Given the description of an element on the screen output the (x, y) to click on. 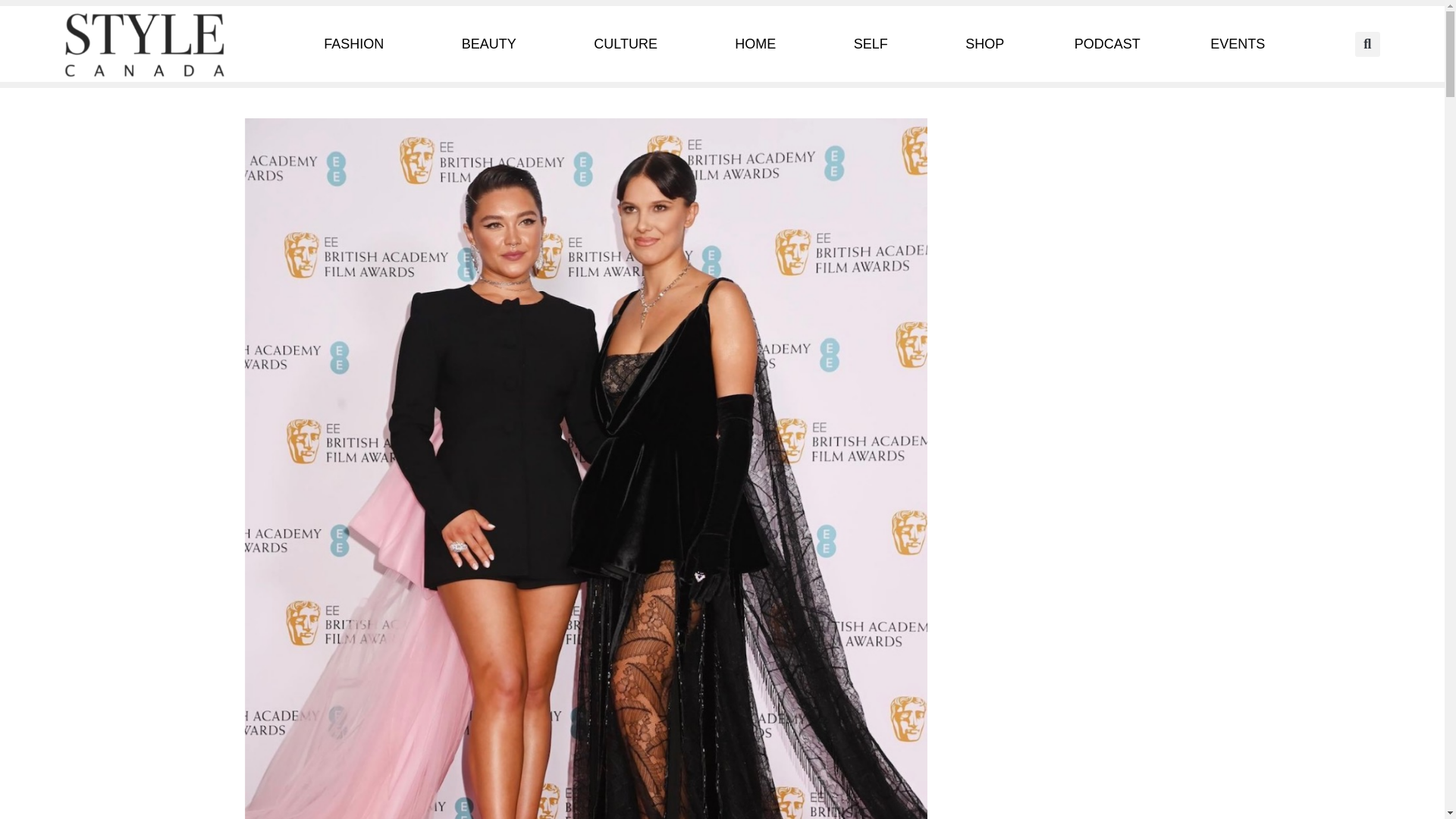
FASHION (357, 43)
CULTURE (629, 43)
HOME (759, 43)
BEAUTY (492, 43)
SHOP (984, 43)
EVENTS (1237, 43)
PODCAST (1106, 43)
SELF (874, 43)
